Given the description of an element on the screen output the (x, y) to click on. 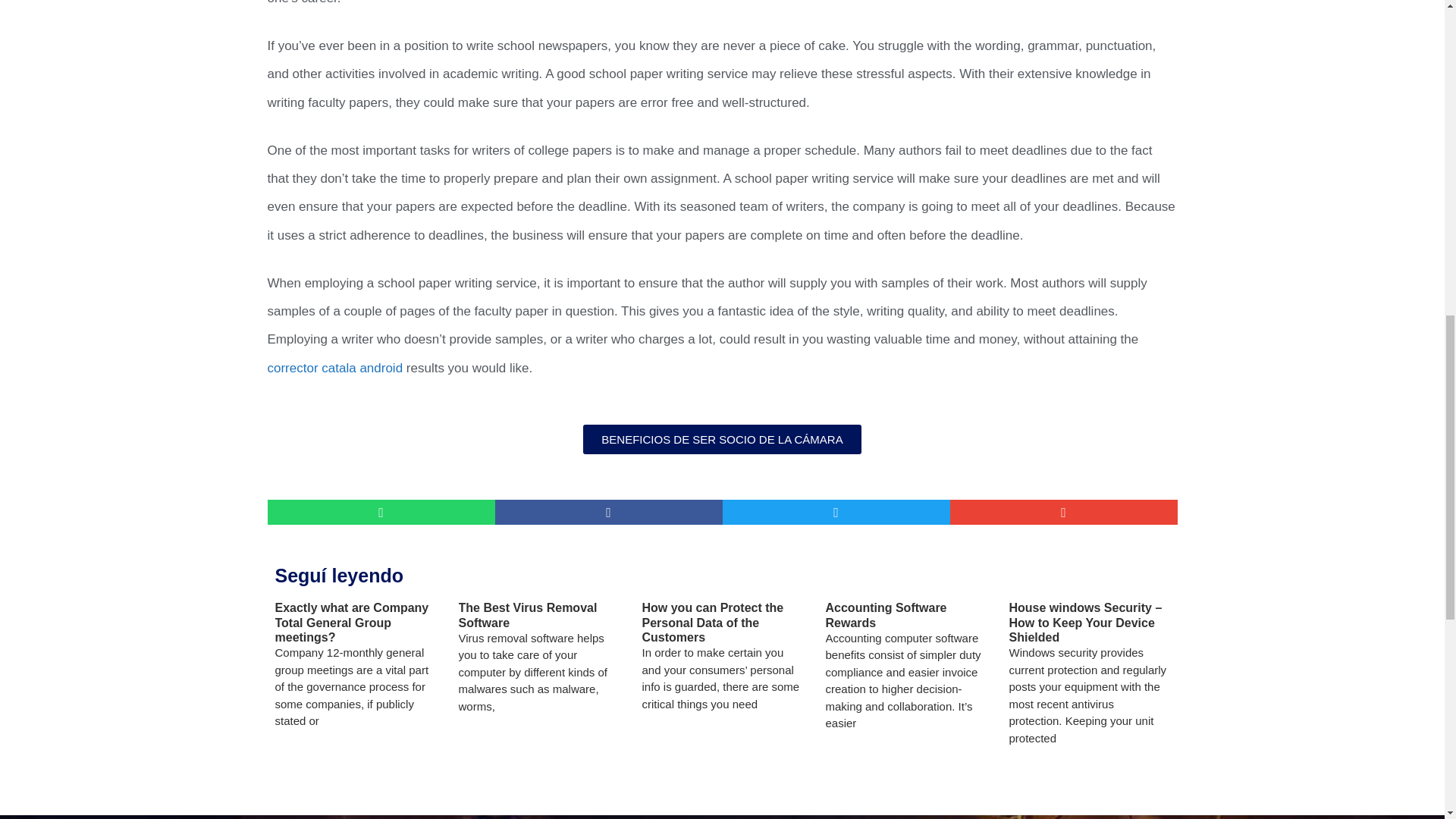
Accounting Software Rewards (885, 614)
corrector catala android (334, 368)
The Best Virus Removal Software (527, 614)
Exactly what are Company Total General Group meetings? (351, 621)
How you can Protect the Personal Data of the Customers (712, 621)
